Given the description of an element on the screen output the (x, y) to click on. 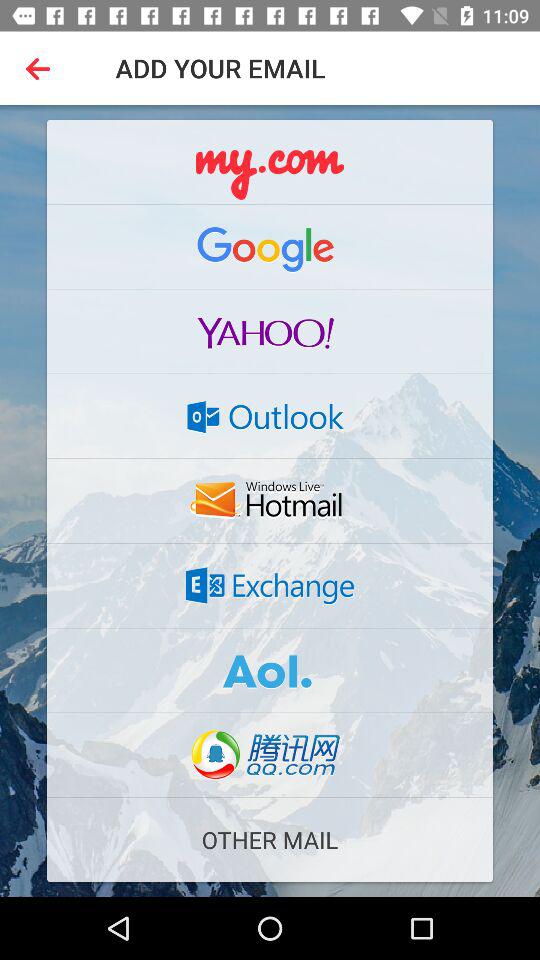
open add link (269, 162)
